Given the description of an element on the screen output the (x, y) to click on. 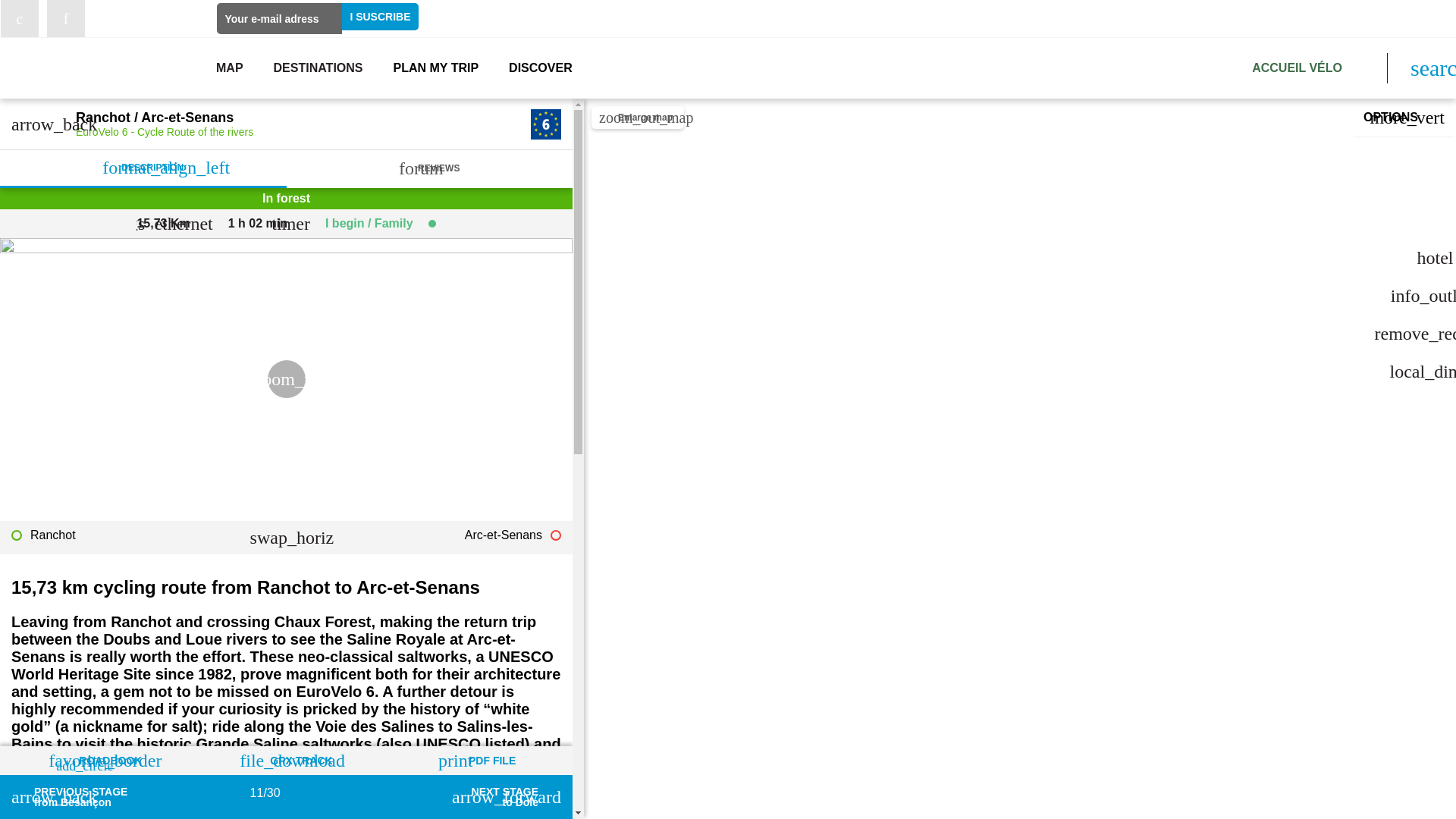
Roadbook (1216, 19)
Personal account (1343, 23)
I suscribe (379, 16)
DESTINATIONS (317, 67)
MAP (229, 67)
Inspirations, bike trip suggestions and cycling holidays (540, 67)
All cycle route in France (229, 67)
Bike tours in French regions and cities (317, 67)
I suscribe (379, 16)
Our advices to prepare your trip in France (436, 67)
PLAN MY TRIP (436, 67)
Anglais (1424, 17)
DISCOVER (540, 67)
